Given the description of an element on the screen output the (x, y) to click on. 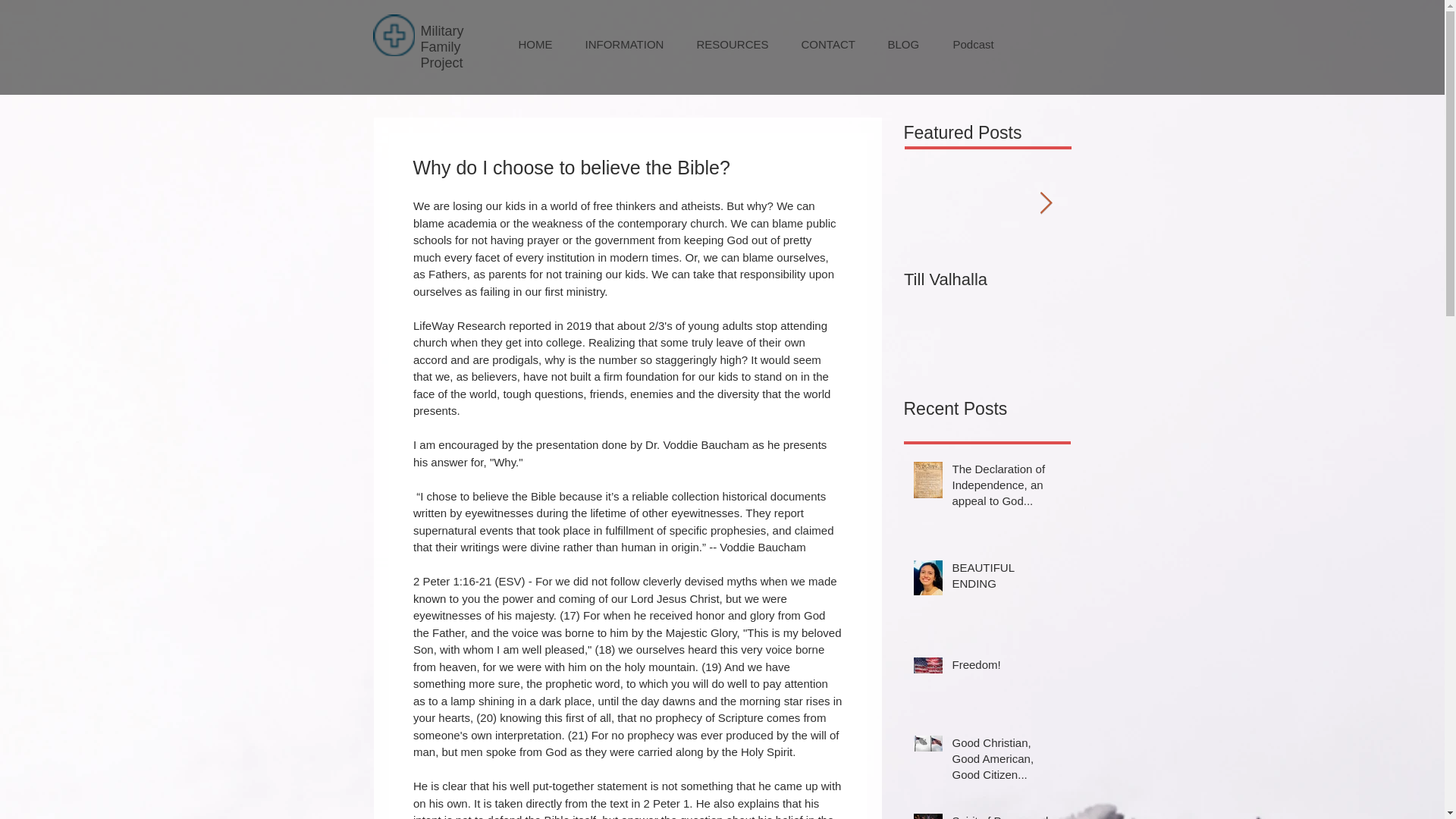
BLOG (904, 44)
HOME (535, 44)
Good Christian, Good American, Good Citizen... (1006, 761)
RESOURCES (733, 44)
INFORMATION (624, 44)
CONTACT (829, 44)
BEAUTIFUL ENDING (1006, 578)
Till Valhalla (987, 279)
The Declaration of Independence, an appeal to God... (1006, 488)
Freedom! (1006, 667)
Podcast (974, 44)
Called to be a Warrior... (1153, 289)
Spirit of Power and Love and Self-Control! (1006, 816)
